Given the description of an element on the screen output the (x, y) to click on. 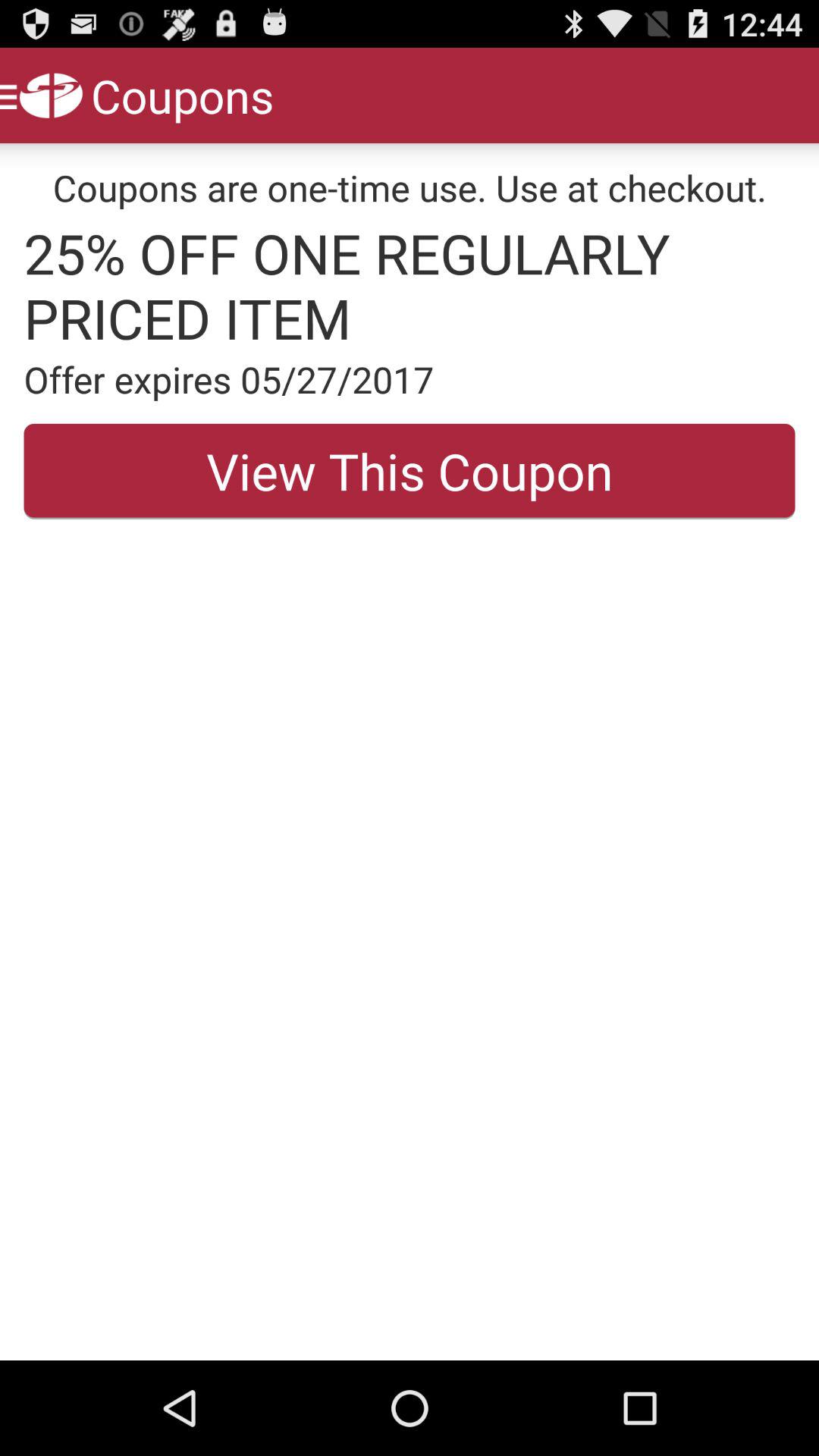
turn on offer expires 05 (409, 378)
